Given the description of an element on the screen output the (x, y) to click on. 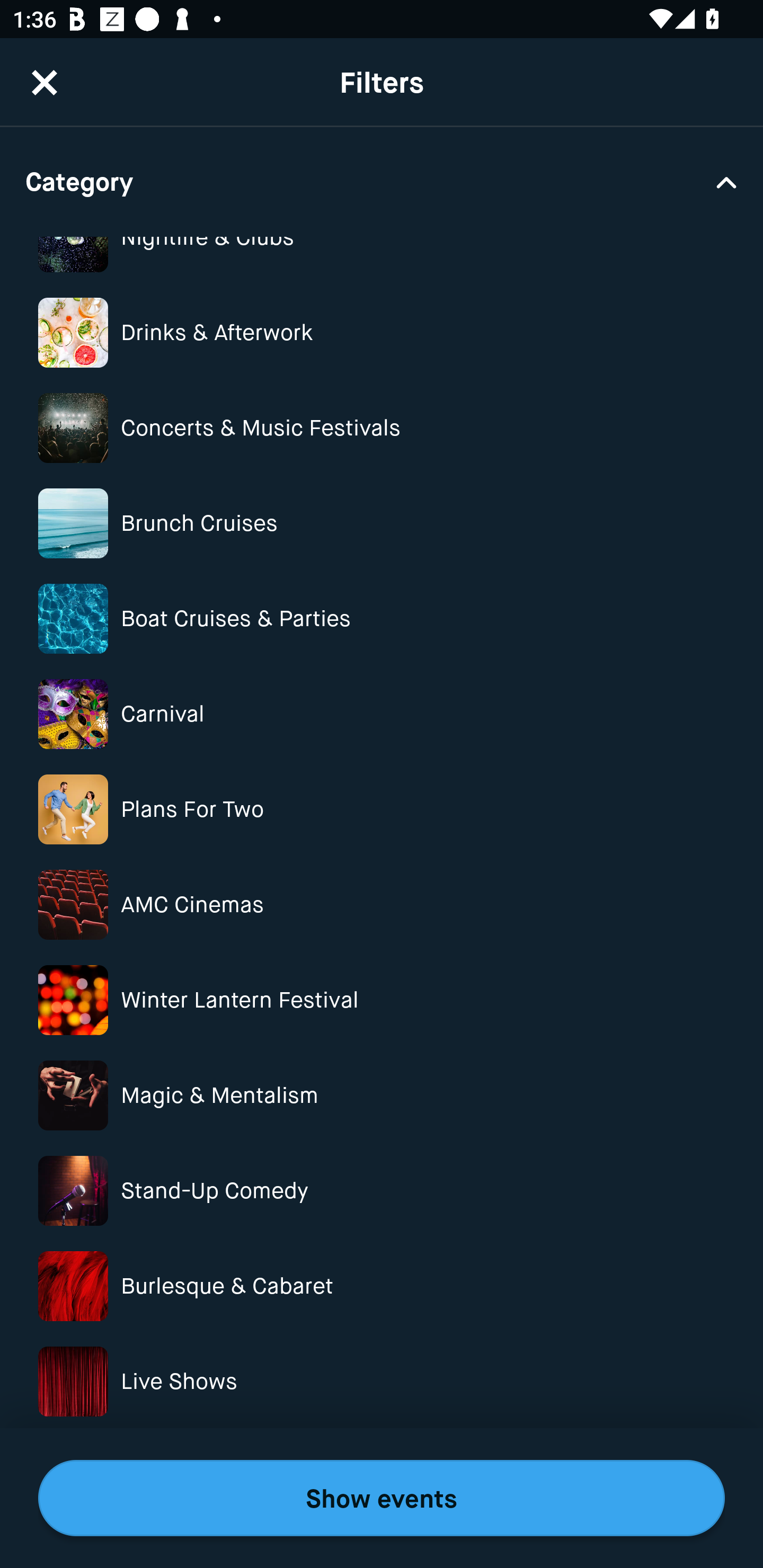
CloseButton (44, 70)
Category Drop Down Arrow (381, 181)
Category Image Drinks & Afterwork (381, 332)
Category Image Concerts & Music Festivals (381, 427)
Category Image Brunch Cruises (381, 522)
Category Image Boat Cruises & Parties (381, 618)
Category Image Carnival (381, 713)
Category Image Plans For Two (381, 809)
Category Image AMC Cinemas (381, 904)
Category Image Winter Lantern Festival (381, 1000)
Category Image Magic & Mentalism (381, 1094)
Category Image Stand-Up Comedy (381, 1190)
Category Image Burlesque & Cabaret (381, 1286)
Category Image Live Shows (381, 1381)
Show events (381, 1497)
